Given the description of an element on the screen output the (x, y) to click on. 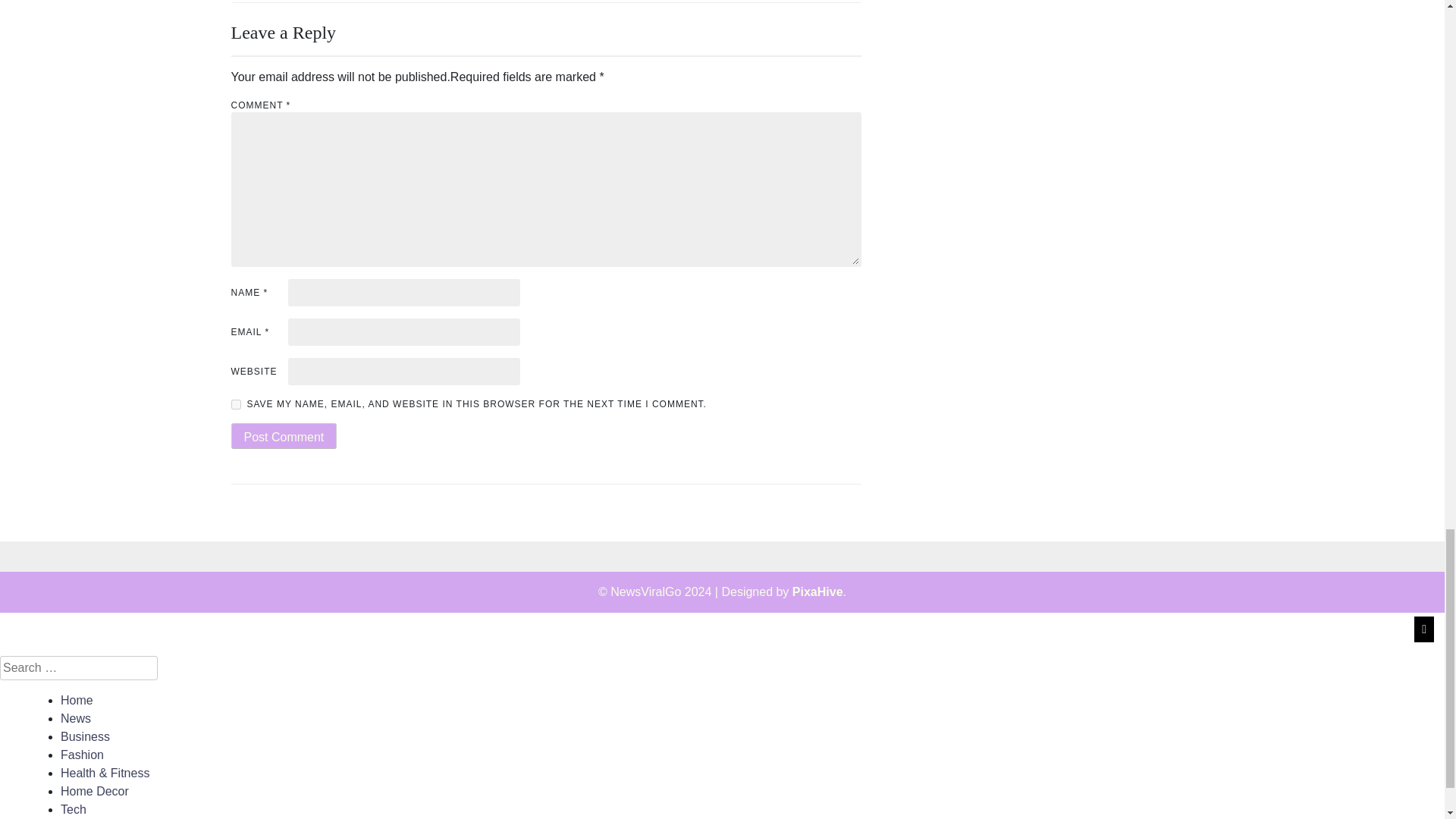
PixaHive (817, 591)
News (75, 717)
Tech (73, 809)
Home Decor (95, 790)
Post Comment (283, 435)
Home (77, 699)
Business (85, 736)
Post Comment (283, 435)
yes (235, 404)
Fashion (82, 754)
